Given the description of an element on the screen output the (x, y) to click on. 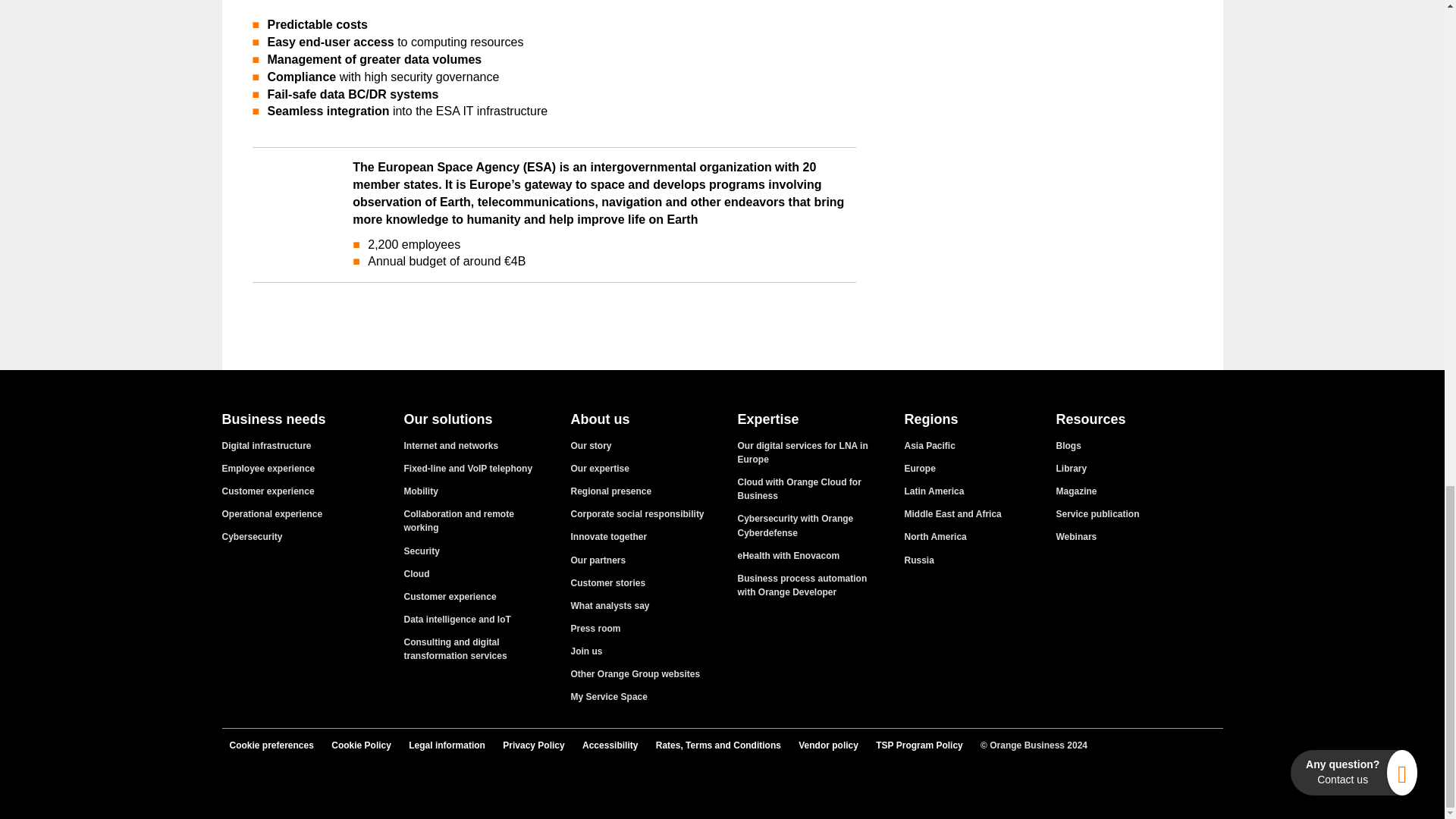
What analysts say (609, 605)
Our local offices (610, 491)
Corporate (590, 445)
Our digital services for LNA in Europe (801, 452)
Group sites (635, 674)
Press room (595, 628)
Careers (586, 651)
